Given the description of an element on the screen output the (x, y) to click on. 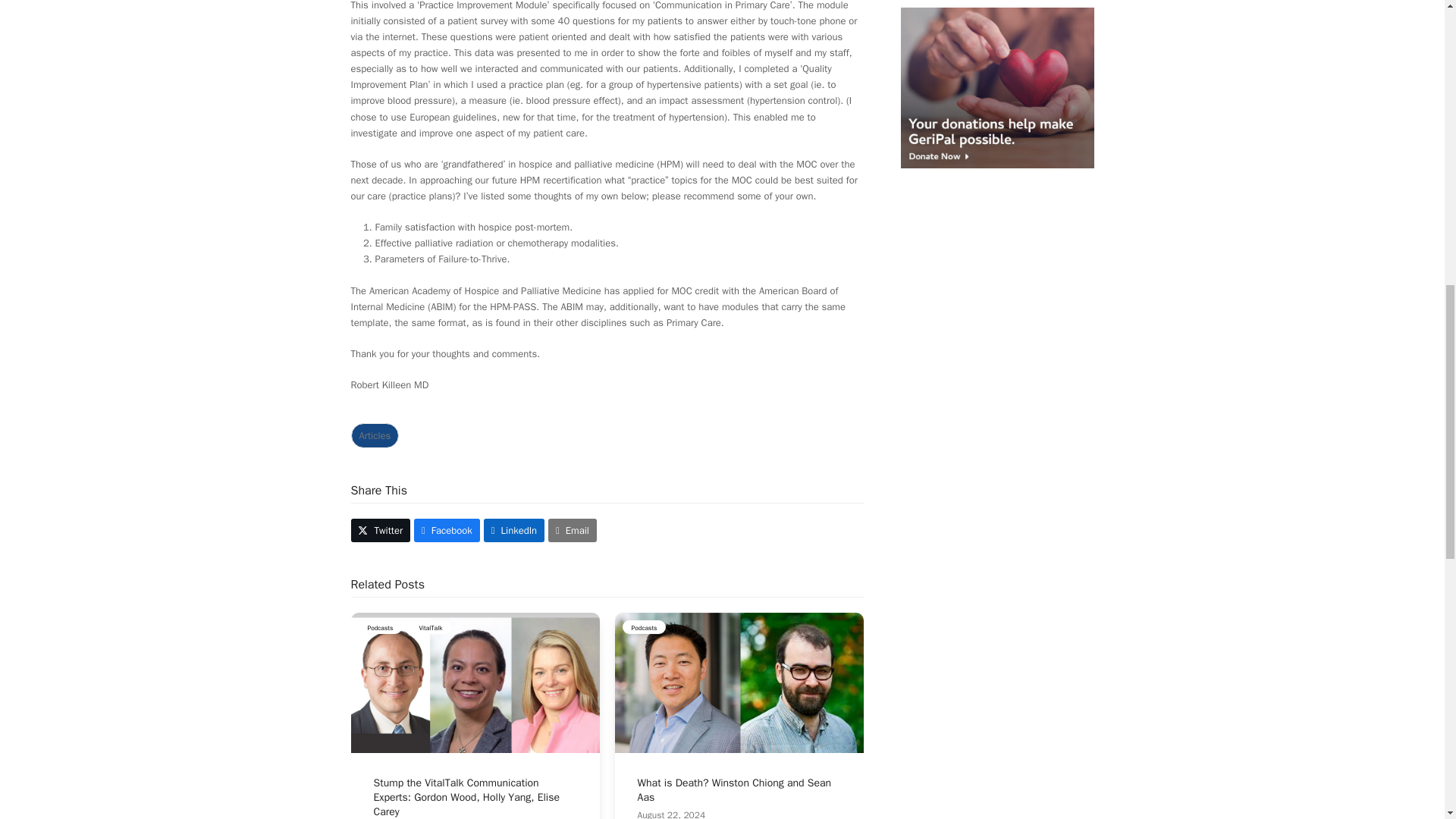
Articles (374, 435)
Facebook (446, 530)
Twitter (380, 530)
LinkedIn (513, 530)
